Given the description of an element on the screen output the (x, y) to click on. 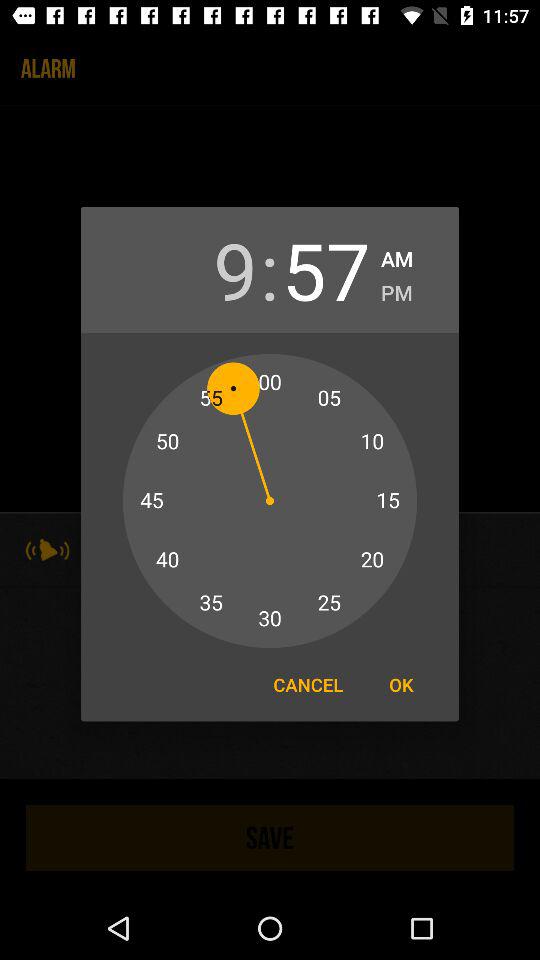
click icon below am item (396, 289)
